Given the description of an element on the screen output the (x, y) to click on. 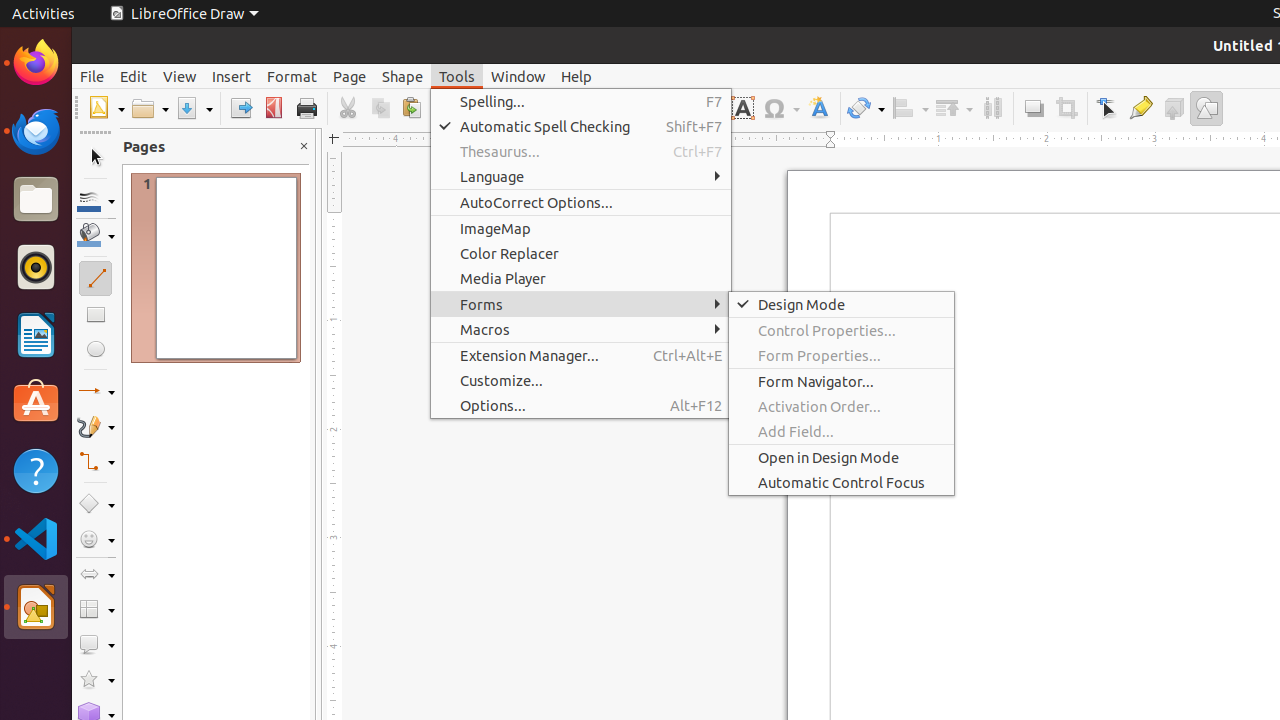
Page Element type: menu (349, 76)
Draw Functions Element type: toggle-button (1206, 108)
Export Element type: push-button (240, 108)
Shadow Element type: toggle-button (1033, 108)
File Element type: menu (92, 76)
